Given the description of an element on the screen output the (x, y) to click on. 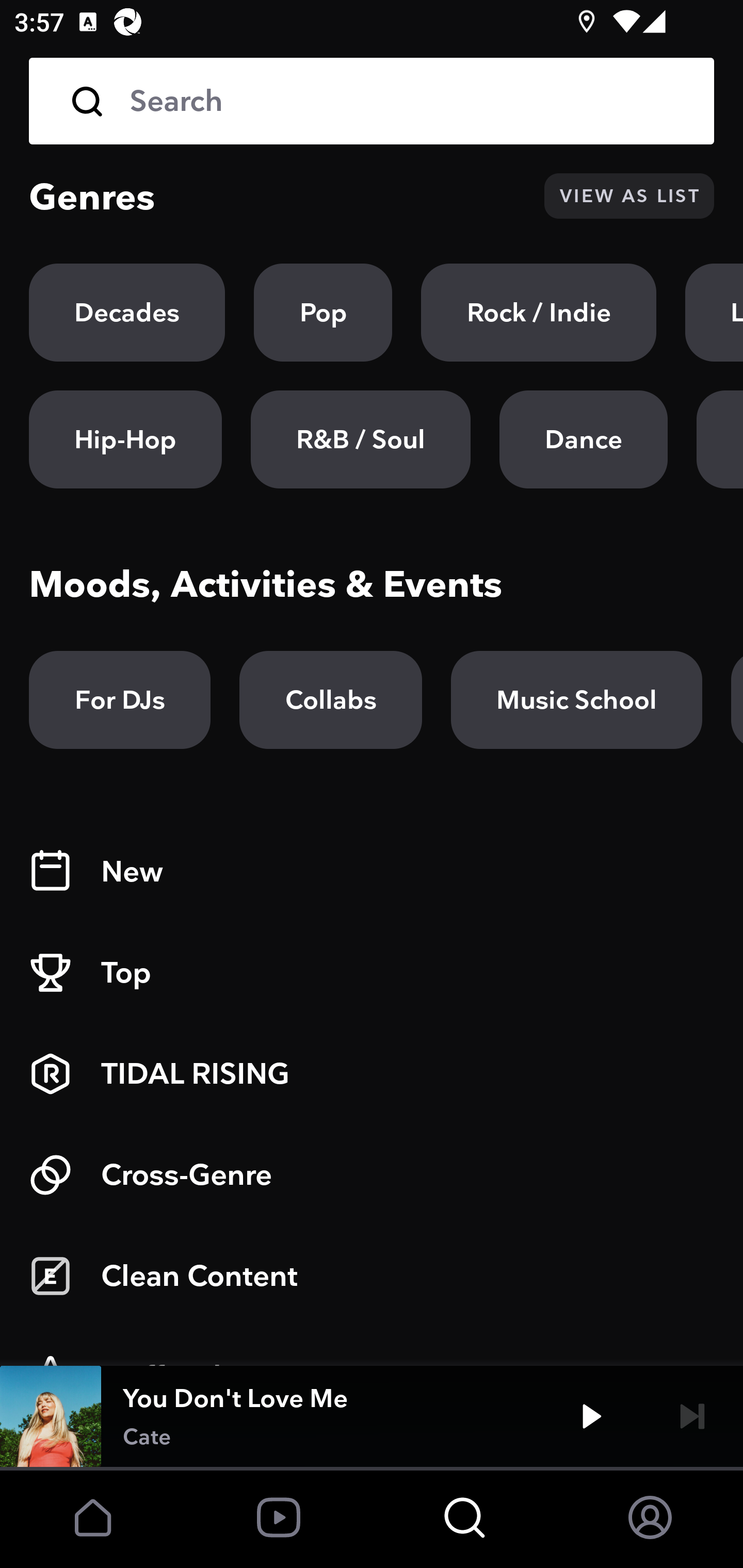
Search (371, 101)
Search (407, 100)
VIEW AS LIST (629, 195)
Decades (126, 312)
Pop (323, 312)
Rock / Indie (538, 312)
Hip-Hop (125, 439)
R&B / Soul (360, 439)
Dance (583, 439)
For DJs (119, 699)
Collabs (330, 699)
Music School (576, 699)
New (371, 871)
Top (371, 972)
TIDAL RISING (371, 1073)
Cross-Genre (371, 1175)
Clean Content (371, 1276)
You Don't Love Me Cate Play (371, 1416)
Play (590, 1416)
